Given the description of an element on the screen output the (x, y) to click on. 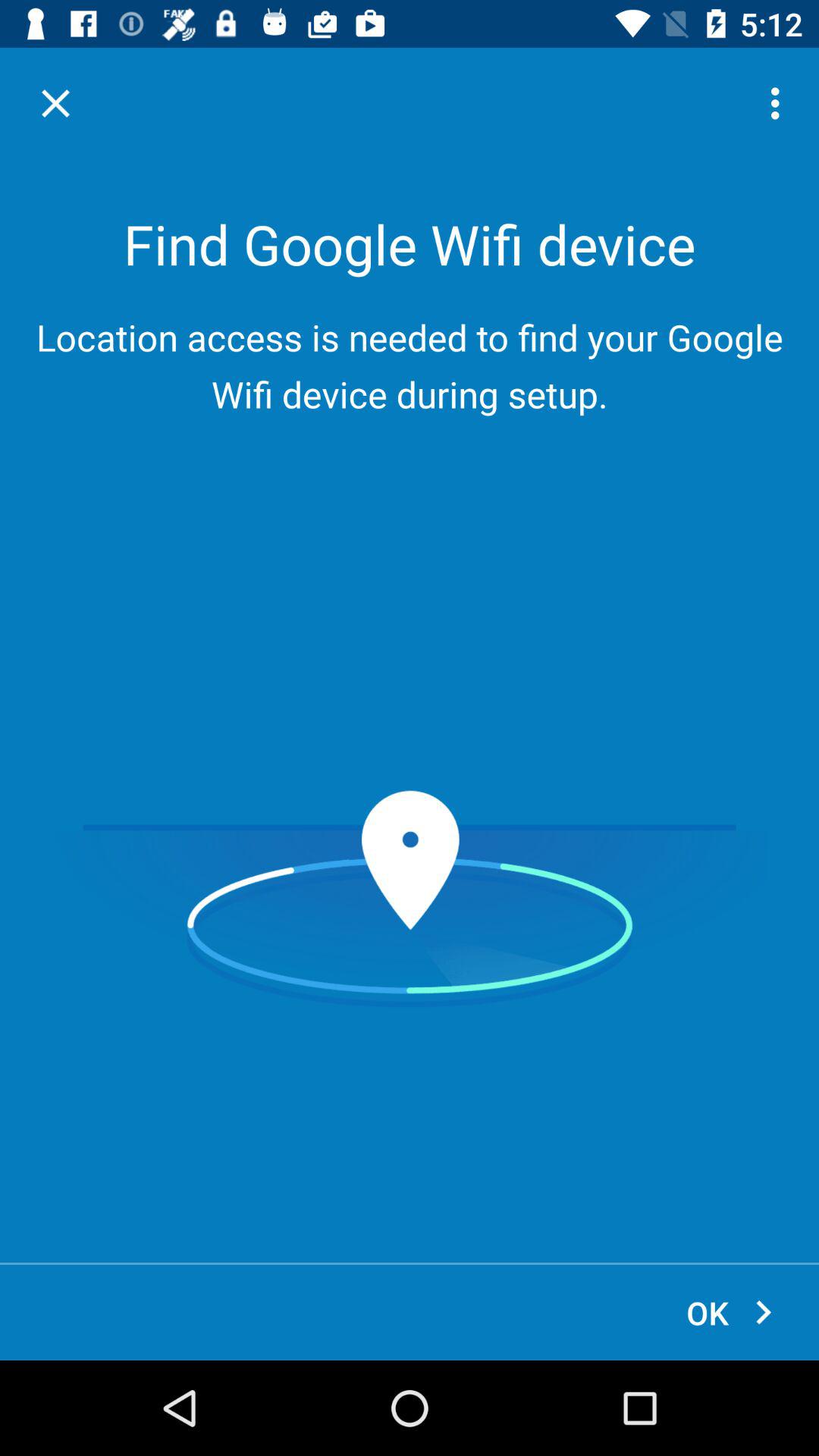
turn off item above the location access is item (55, 103)
